Given the description of an element on the screen output the (x, y) to click on. 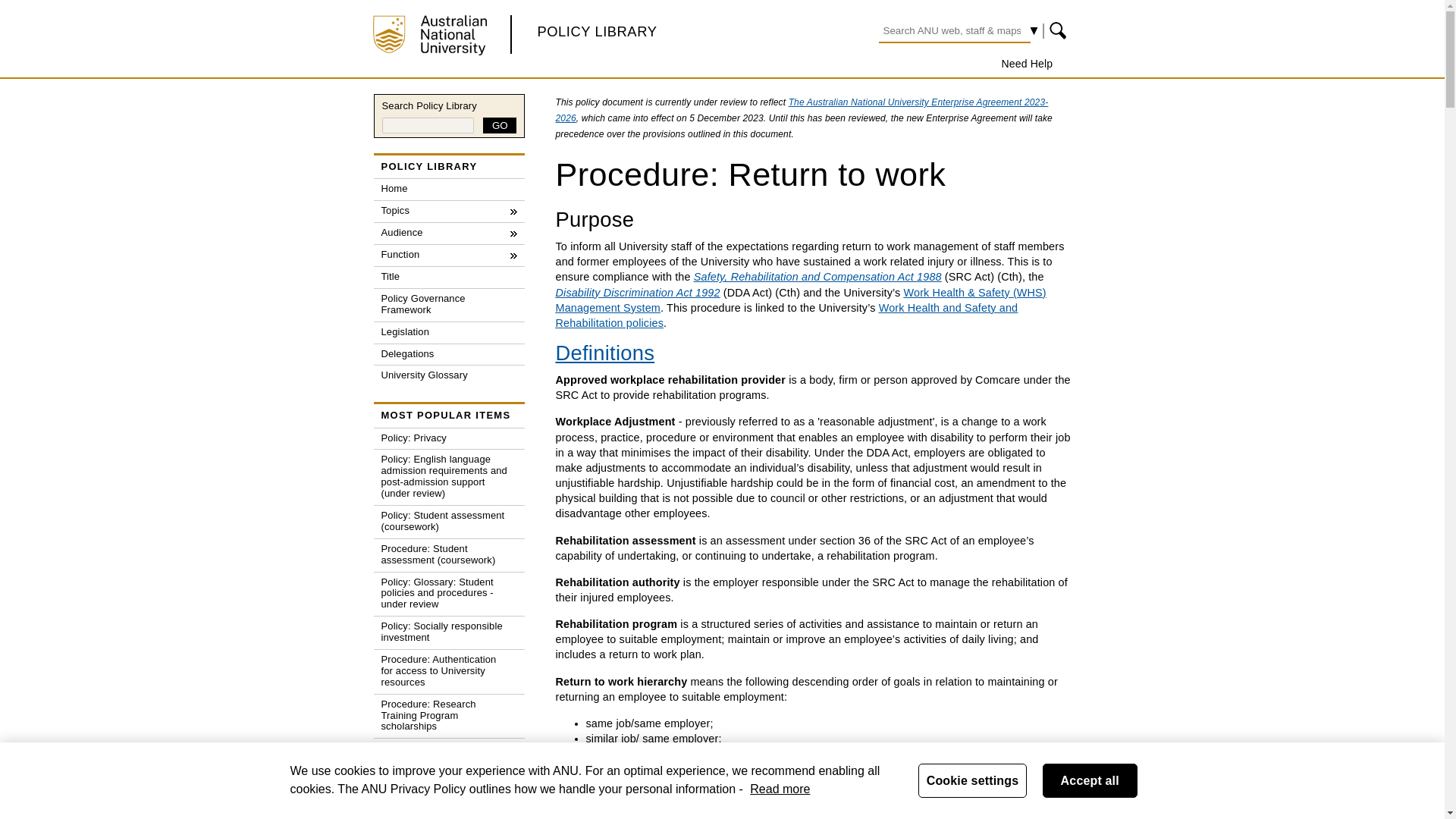
POLICY LIBRARY (596, 31)
GO (499, 125)
Topics (448, 210)
Home (448, 189)
GO (499, 125)
Go (1059, 30)
Search (499, 125)
GO (499, 125)
Need Help (1026, 61)
